Given the description of an element on the screen output the (x, y) to click on. 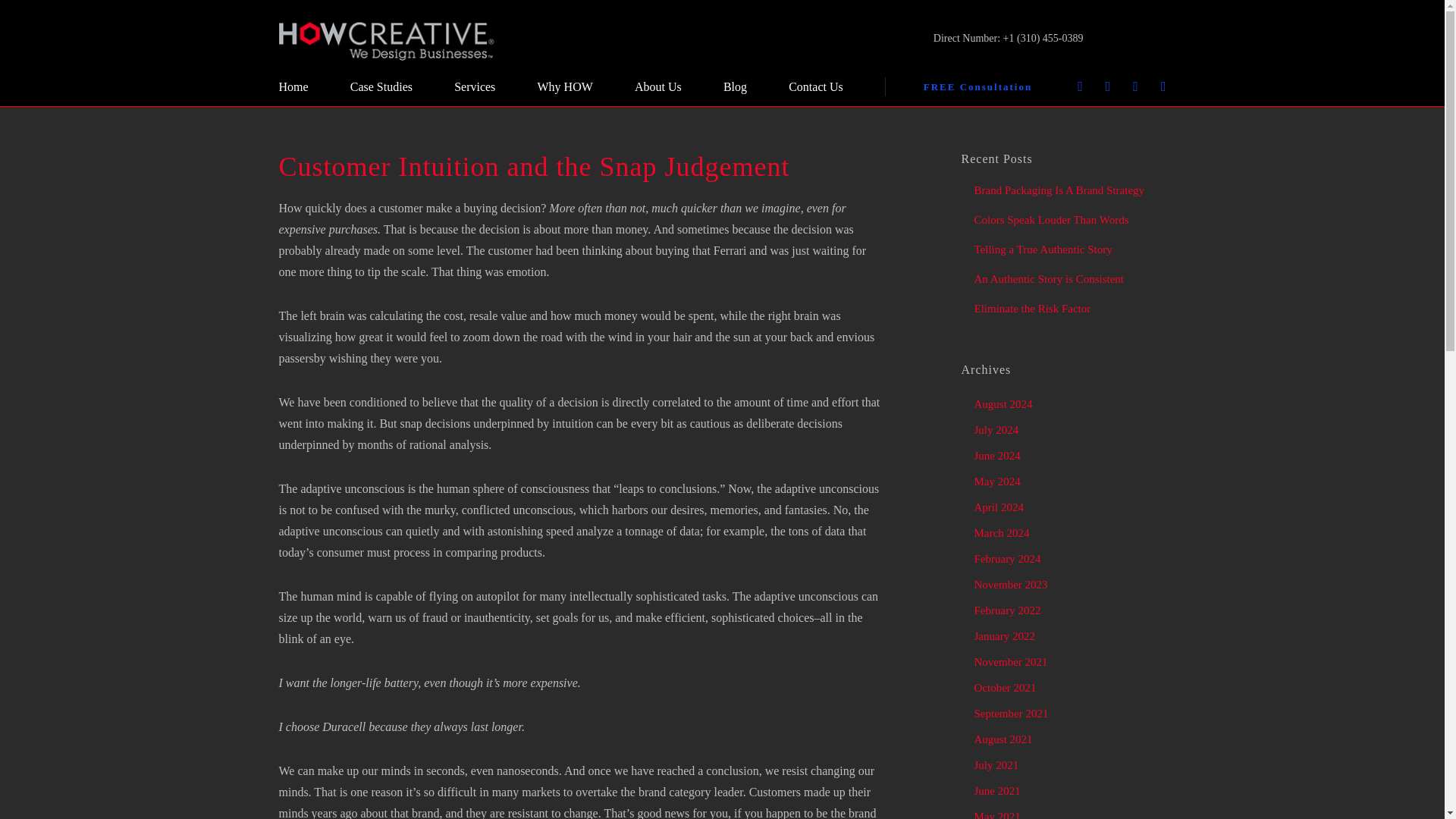
Blog (734, 85)
June 2024 (997, 455)
Home (293, 85)
Why HOW (564, 85)
Services (474, 85)
Telling a True Authentic Story (1043, 249)
Brand Packaging Is A Brand Strategy (1059, 190)
July 2024 (995, 429)
About Us (657, 85)
Colors Speak Louder Than Words (1051, 219)
